Given the description of an element on the screen output the (x, y) to click on. 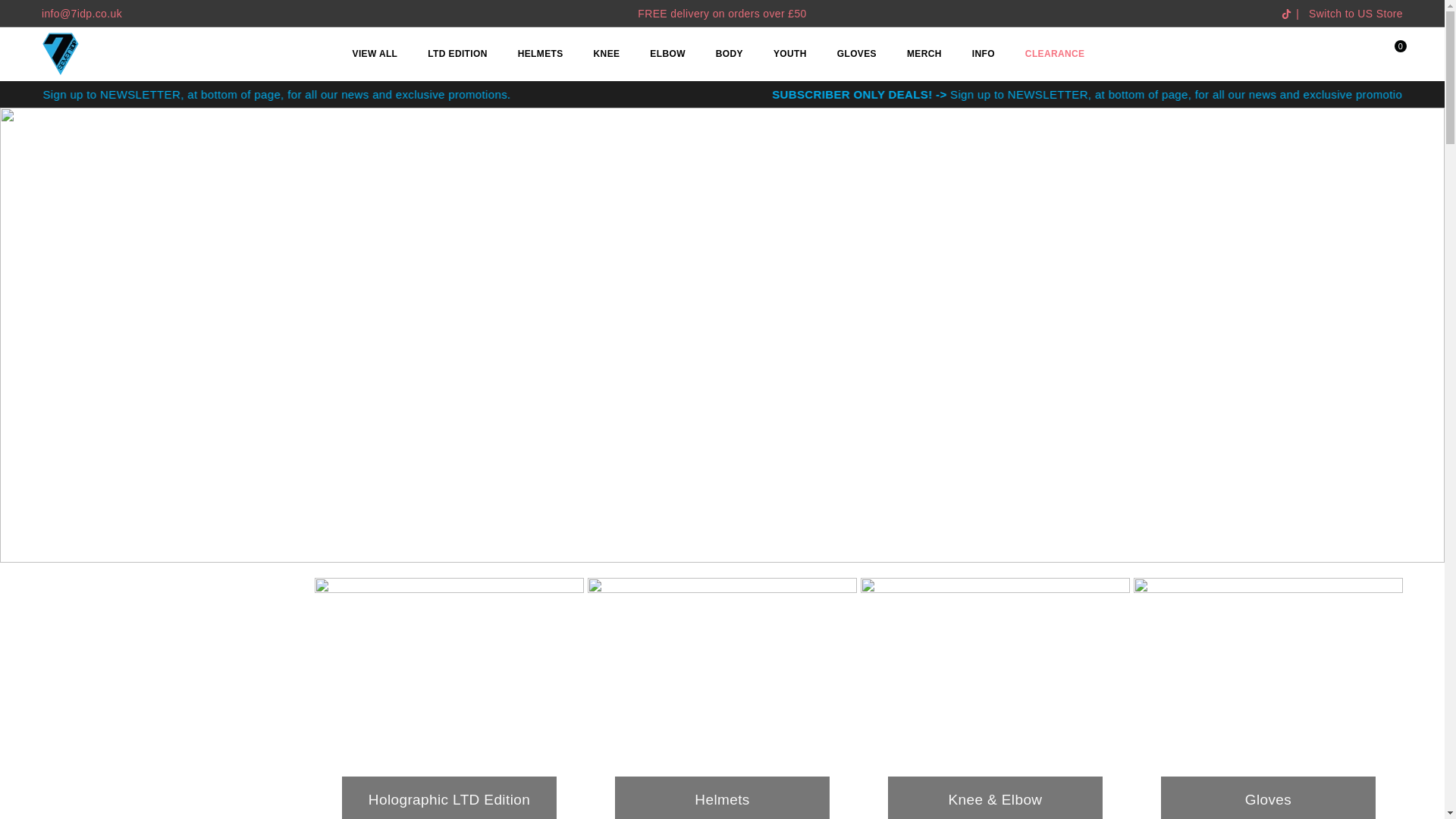
HELMETS (540, 54)
Facebook (1260, 13)
VIEW ALL (374, 54)
Cart (1389, 53)
Instagram (1270, 13)
Switch to US Store (1355, 13)
KNEE (606, 54)
TikTok (1286, 13)
LTD EDITION (456, 54)
Search (1361, 53)
